Given the description of an element on the screen output the (x, y) to click on. 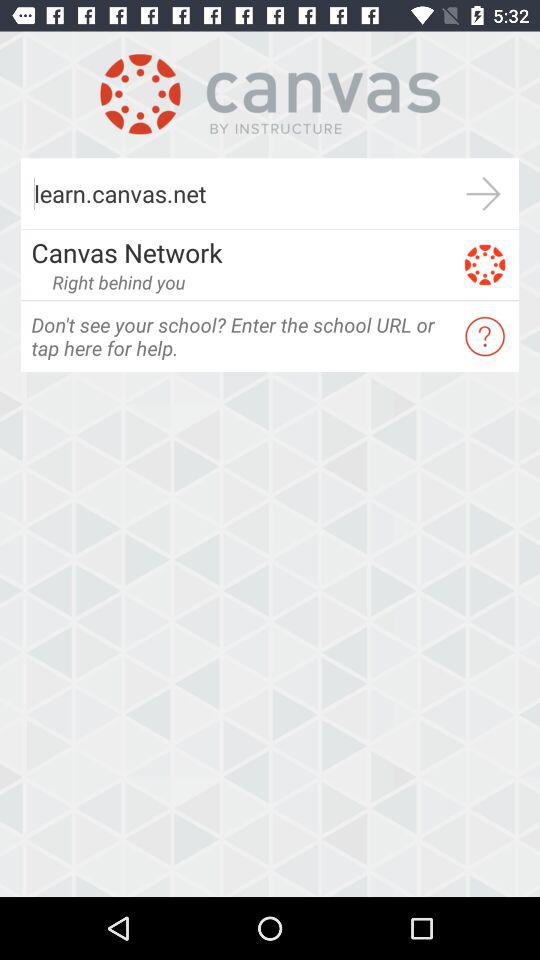
turn on the icon next to the learn.canvas.net icon (483, 193)
